Given the description of an element on the screen output the (x, y) to click on. 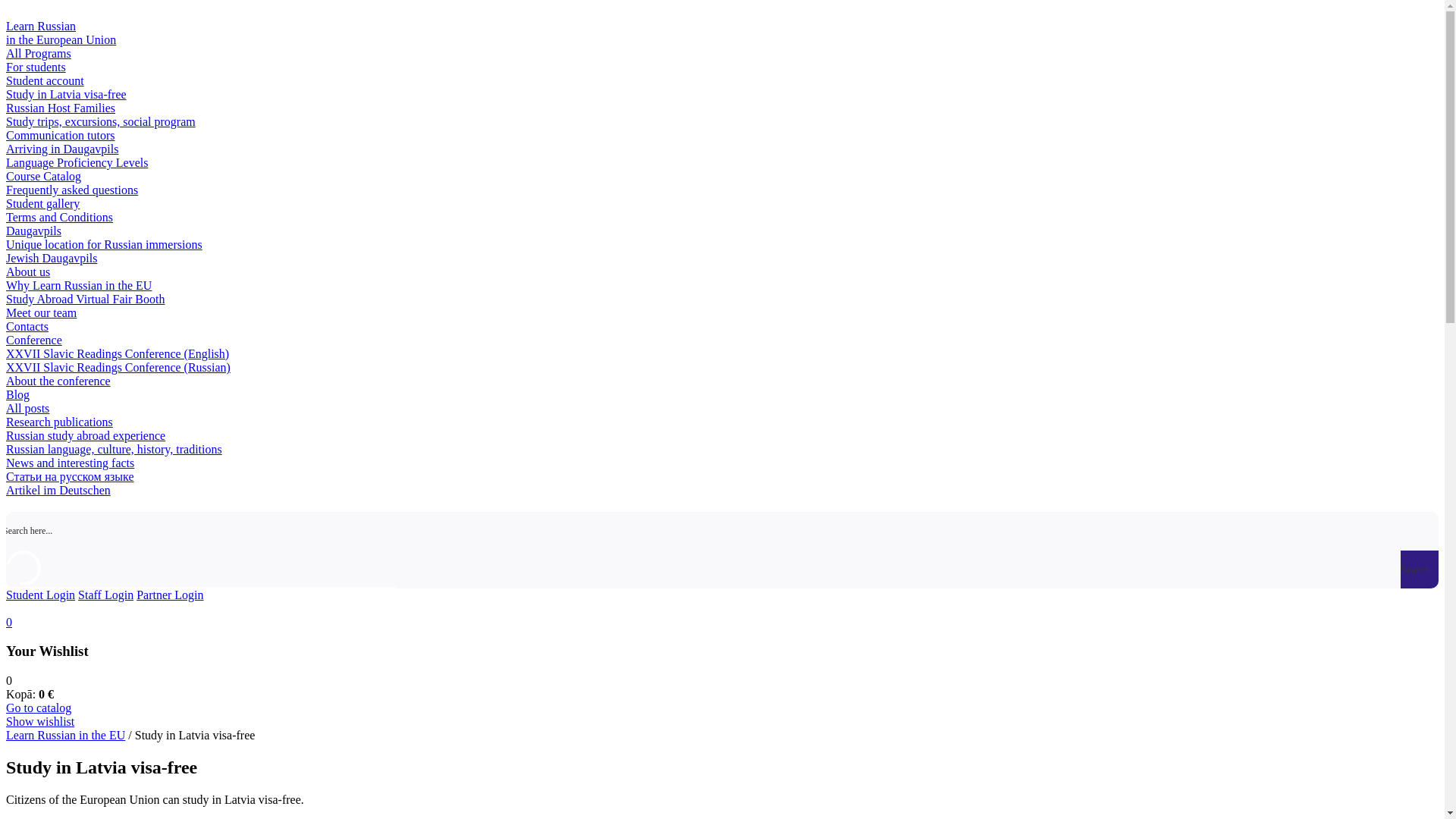
Research publications (59, 421)
For students (35, 66)
All posts (27, 408)
Partner Login (169, 594)
Contacts (26, 326)
Daugavpils (33, 230)
Meet our team (41, 312)
Student account (44, 80)
Unique location for Russian immersions (103, 244)
Study Abroad Virtual Fair Booth (84, 298)
